Given the description of an element on the screen output the (x, y) to click on. 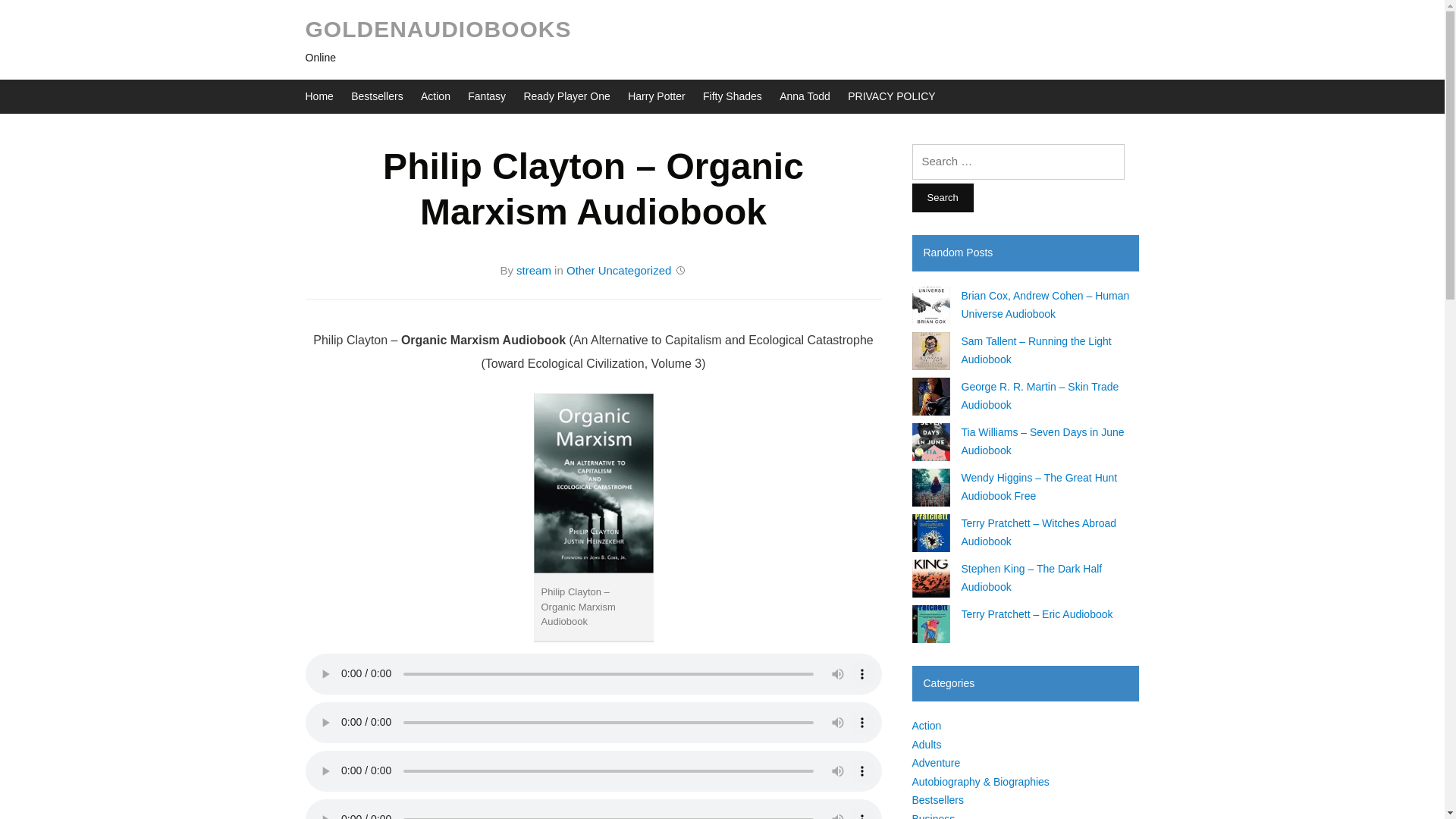
Fifty Shades (732, 96)
Harry Potter (655, 96)
Search (941, 197)
Anna Todd (803, 96)
GOLDENAUDIOBOOKS (437, 28)
Posts by stream (533, 269)
stream (533, 269)
Bestsellers (376, 96)
Ready Player One (566, 96)
Fantasy (486, 96)
Other (580, 269)
PRIVACY POLICY (890, 96)
Search (941, 197)
